Given the description of an element on the screen output the (x, y) to click on. 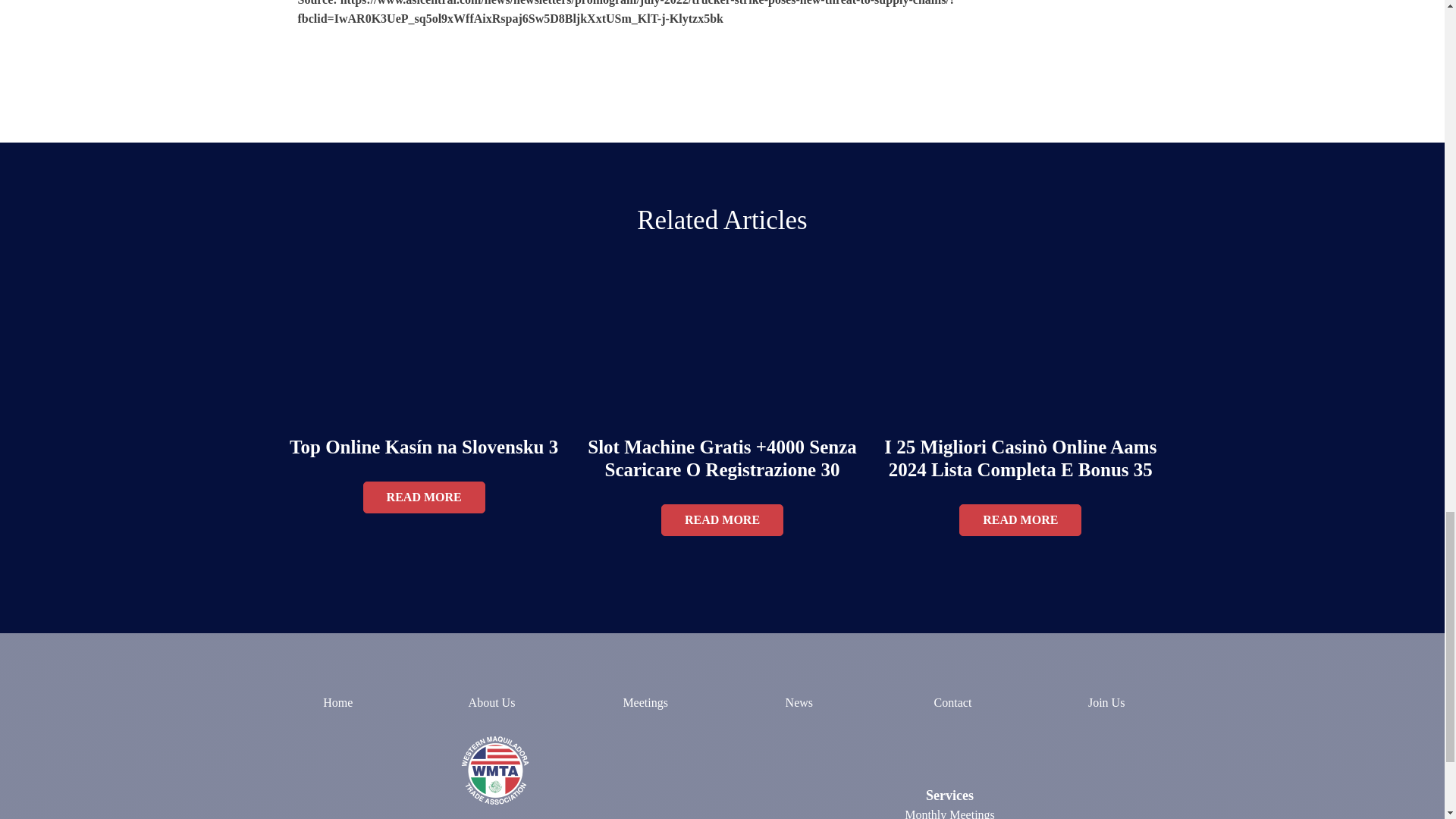
Monthly Meetings (949, 814)
Join Us (1106, 704)
READ MORE (1020, 520)
READ MORE (722, 520)
Contact (952, 702)
READ MORE (423, 497)
Home (337, 702)
Meetings (645, 702)
About Us (491, 702)
News (798, 702)
